Given the description of an element on the screen output the (x, y) to click on. 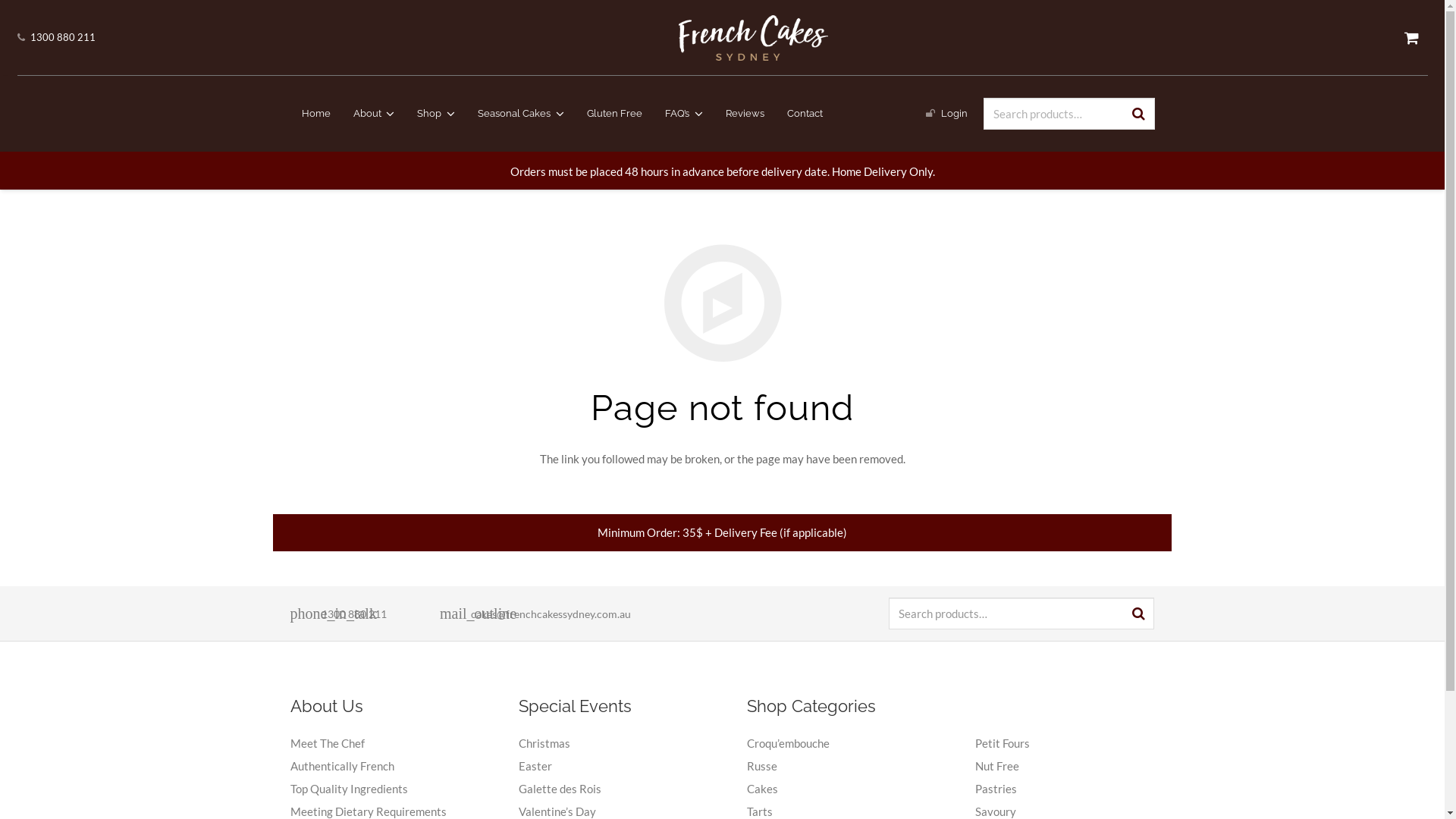
Cakes Element type: text (762, 788)
Search Element type: text (21, 10)
phone_in_talk Element type: text (304, 613)
Nut Free Element type: text (997, 765)
Top Quality Ingredients Element type: text (348, 788)
Petit Fours Element type: text (1002, 742)
Reviews Element type: text (744, 113)
Gluten Free Element type: text (614, 113)
cakes@frenchcakessydney.com.au Element type: text (550, 613)
Meet The Chef Element type: text (326, 742)
Shop Element type: text (435, 113)
Seasonal Cakes Element type: text (520, 113)
Home Element type: text (315, 113)
Pastries Element type: text (995, 788)
Galette des Rois Element type: text (559, 788)
0 Element type: text (1411, 37)
1300 880 211 Element type: text (363, 613)
Contact Element type: text (804, 113)
1300 880 211 Element type: text (62, 37)
Search Element type: text (21, 9)
Russe Element type: text (761, 765)
Authentically French Element type: text (341, 765)
Easter Element type: text (535, 765)
Meeting Dietary Requirements Element type: text (367, 811)
About Element type: text (373, 113)
Login Element type: text (954, 113)
mail_outline Element type: text (454, 613)
Christmas Element type: text (544, 742)
Tarts Element type: text (759, 811)
Savoury Element type: text (995, 811)
